Given the description of an element on the screen output the (x, y) to click on. 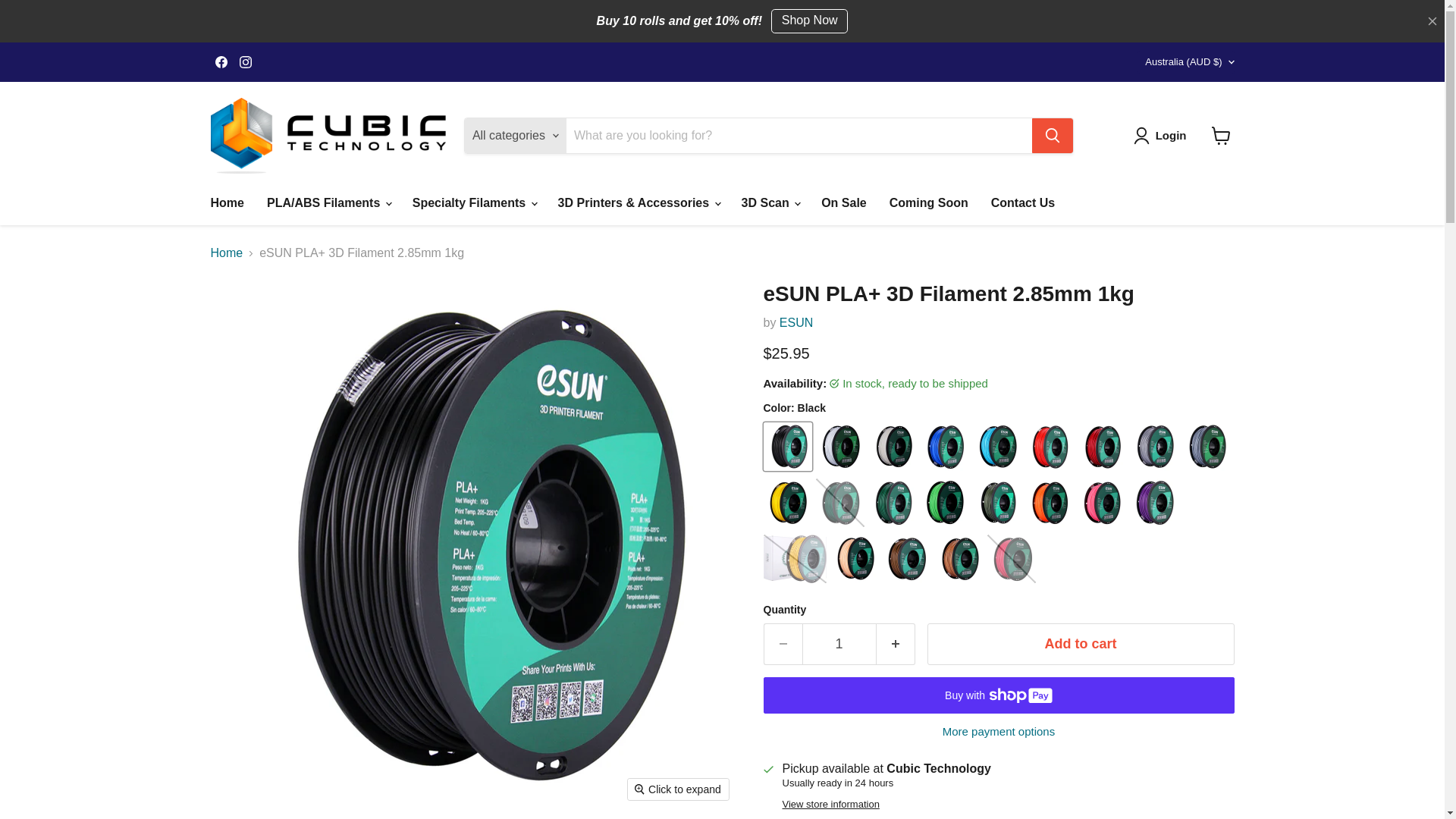
Facebook (221, 61)
Instagram (245, 61)
Find us on Instagram (245, 61)
ESUN (795, 322)
Find us on Facebook (221, 61)
1 (839, 644)
